Given the description of an element on the screen output the (x, y) to click on. 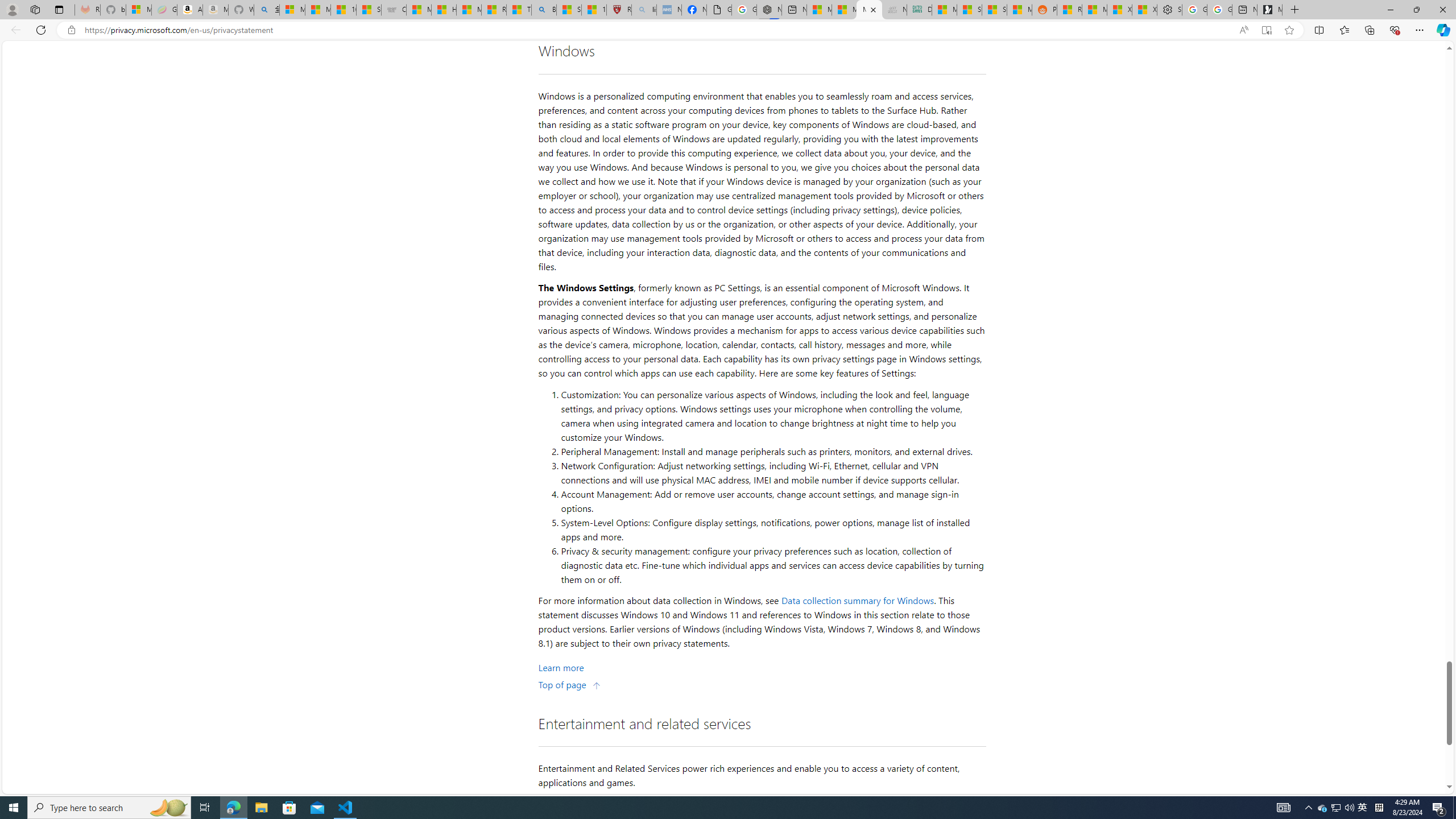
DITOGAMES AG Imprint (919, 9)
Data collection summary for Windows (857, 600)
Stocks - MSN (993, 9)
list of asthma inhalers uk - Search - Sleeping (643, 9)
